Given the description of an element on the screen output the (x, y) to click on. 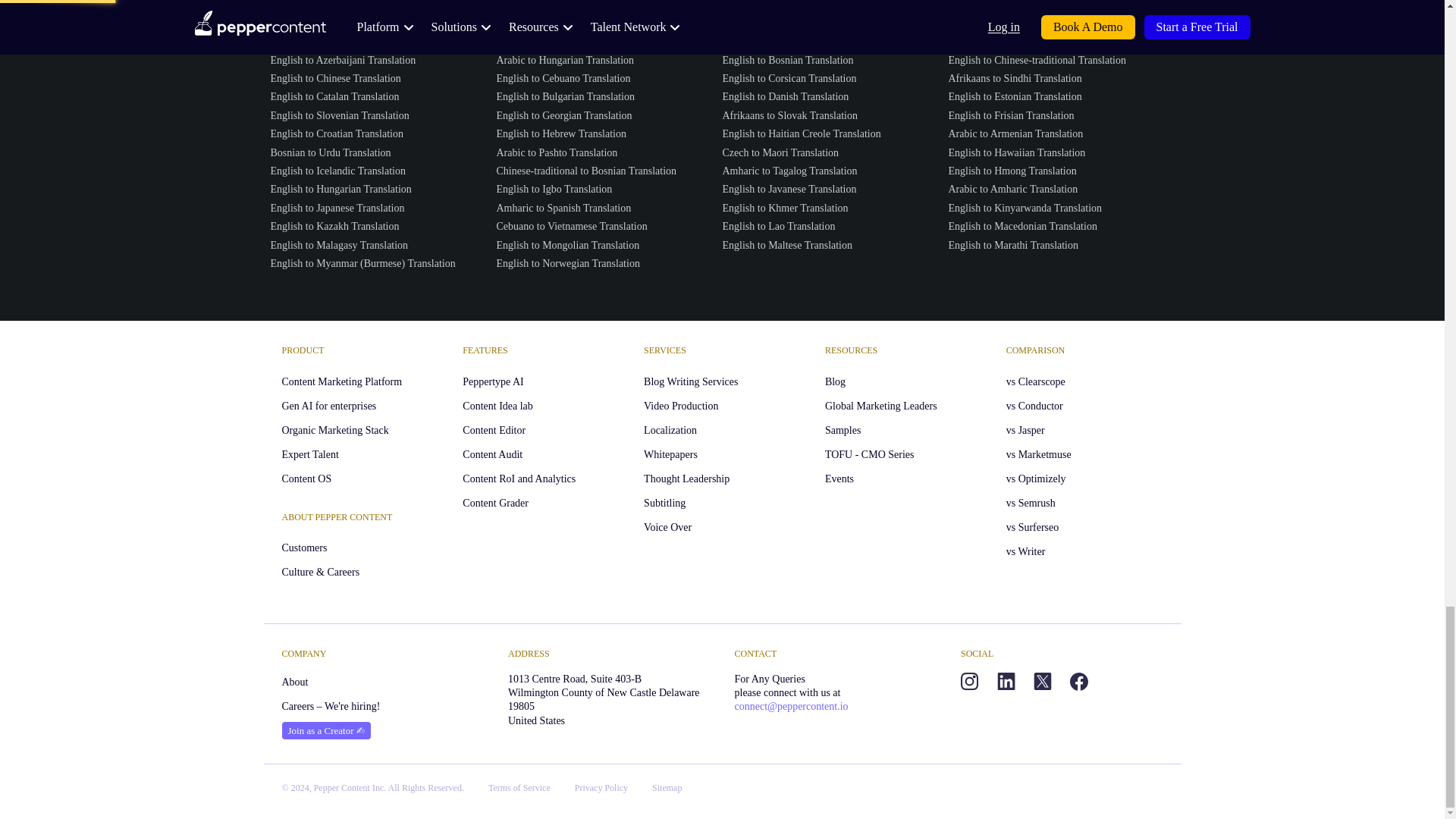
facebook (1078, 681)
linkedin (1005, 681)
twitter (1042, 681)
instagram (969, 681)
